Given the description of an element on the screen output the (x, y) to click on. 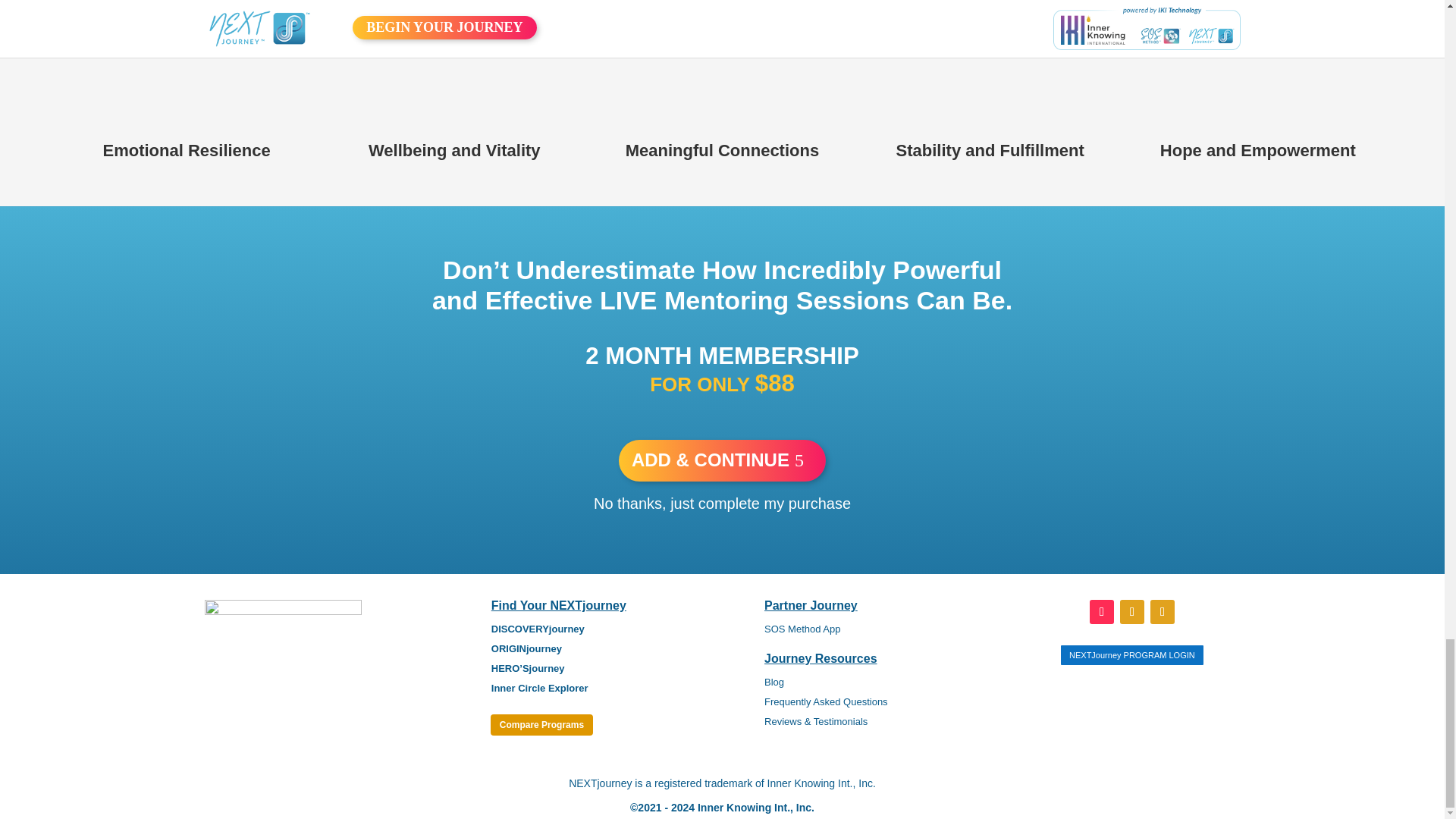
Frequently Asked Questions (826, 701)
ORIGINjourney (527, 648)
Follow on Facebook (1131, 611)
Frequently Asked Questions (826, 701)
Inner Circle Explorer (540, 687)
Follow on Instagram (1162, 611)
NEXTJourney PROGRAM LOGIN (1132, 654)
Blog (774, 681)
NEXTjourney Blog (774, 681)
Inner Circle Explorer (540, 687)
NEXTjourney (283, 641)
Compare Programs (541, 724)
No thanks, just complete my purchase (722, 503)
SOS Method App (802, 628)
Follow on TikTok (1101, 611)
